Given the description of an element on the screen output the (x, y) to click on. 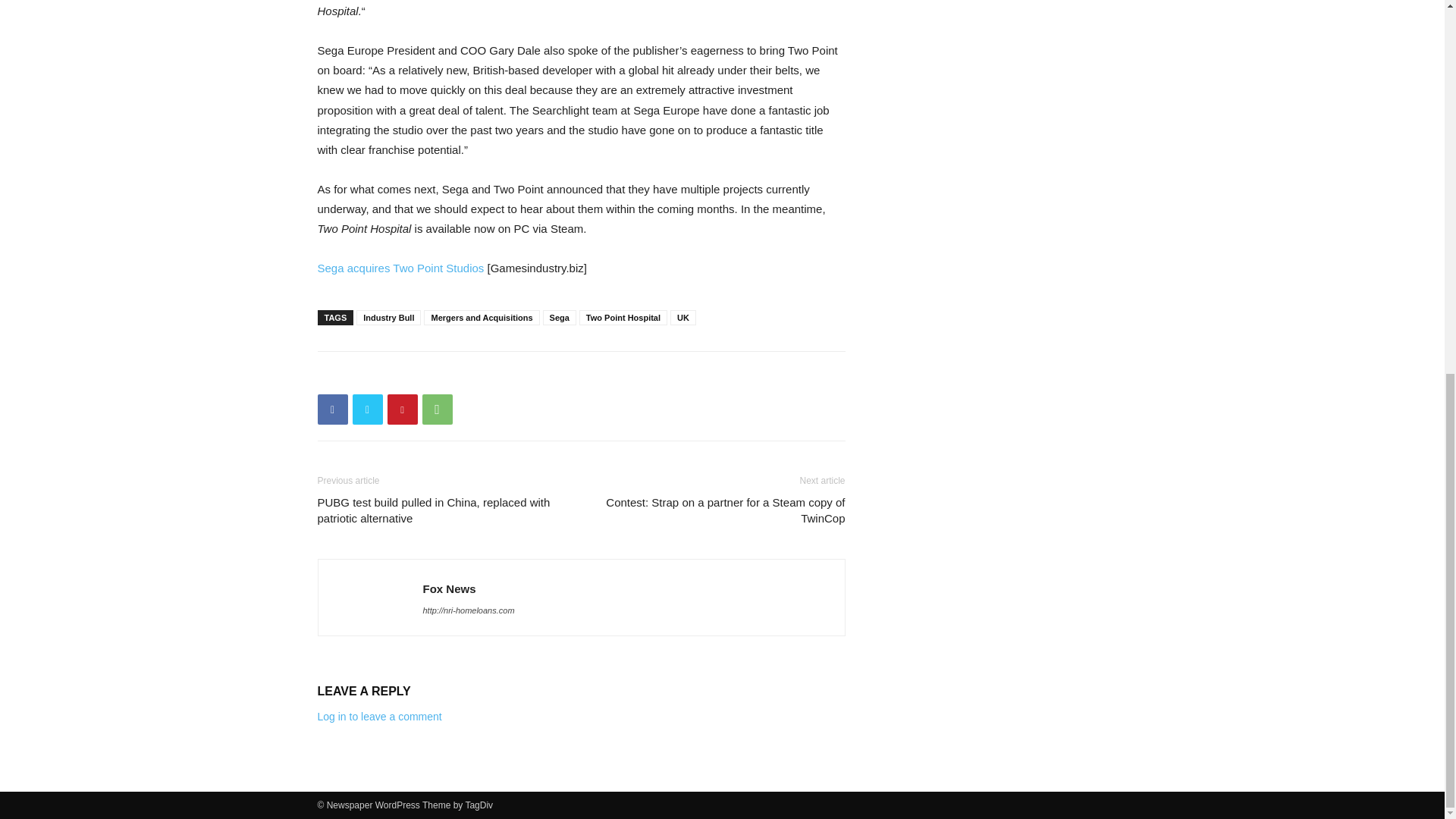
Industry Bull (388, 317)
Twitter (366, 409)
Two Point Hospital (622, 317)
Sega (559, 317)
Pinterest (401, 409)
Mergers and Acquisitions (480, 317)
Contest: Strap on a partner for a Steam copy of TwinCop (721, 510)
bottomFacebookLike (430, 375)
WhatsApp (436, 409)
Facebook (332, 409)
UK (682, 317)
Sega acquires Two Point Studios (400, 267)
